Given the description of an element on the screen output the (x, y) to click on. 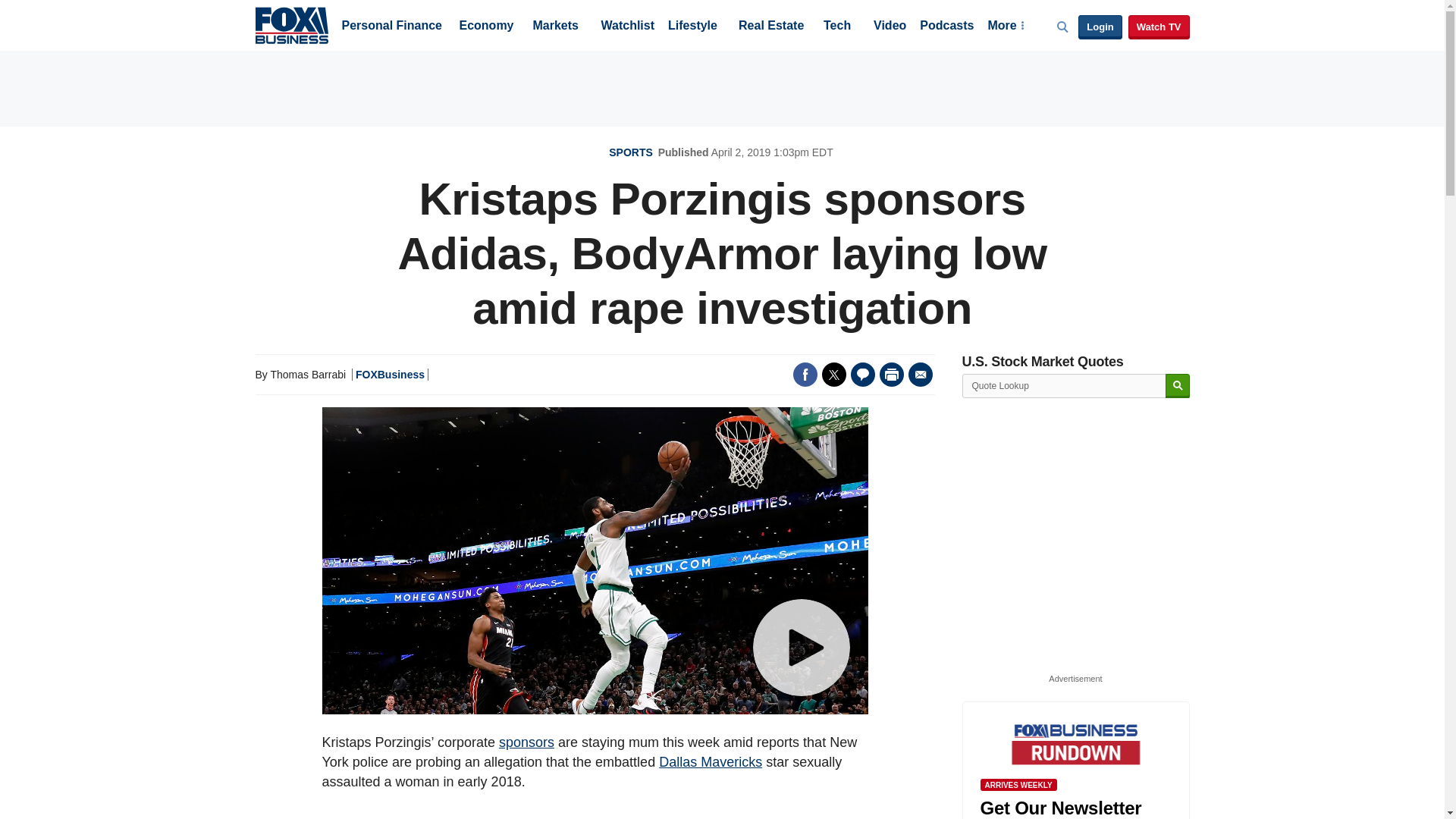
Login (1099, 27)
Markets (555, 27)
Watchlist (626, 27)
Search (1176, 385)
More (1005, 27)
Personal Finance (391, 27)
Watch TV (1158, 27)
Real Estate (770, 27)
Podcasts (947, 27)
Economy (486, 27)
